Given the description of an element on the screen output the (x, y) to click on. 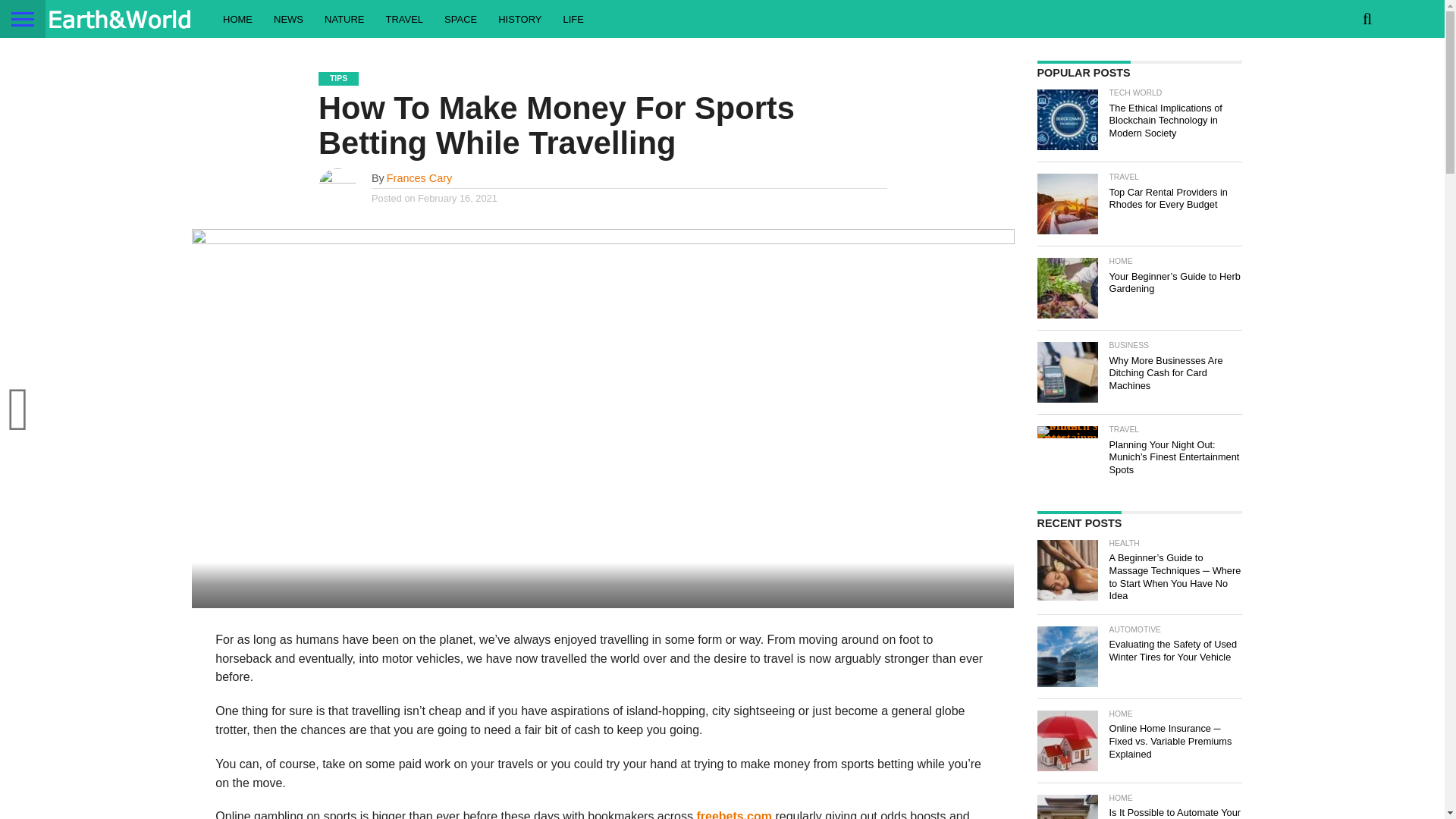
LIFE (573, 18)
Frances Cary (419, 177)
TRAVEL (403, 18)
freebets.com (733, 814)
NEWS (288, 18)
HOME (237, 18)
NATURE (344, 18)
Posts by Frances Cary (419, 177)
HISTORY (519, 18)
SPACE (460, 18)
